Given the description of an element on the screen output the (x, y) to click on. 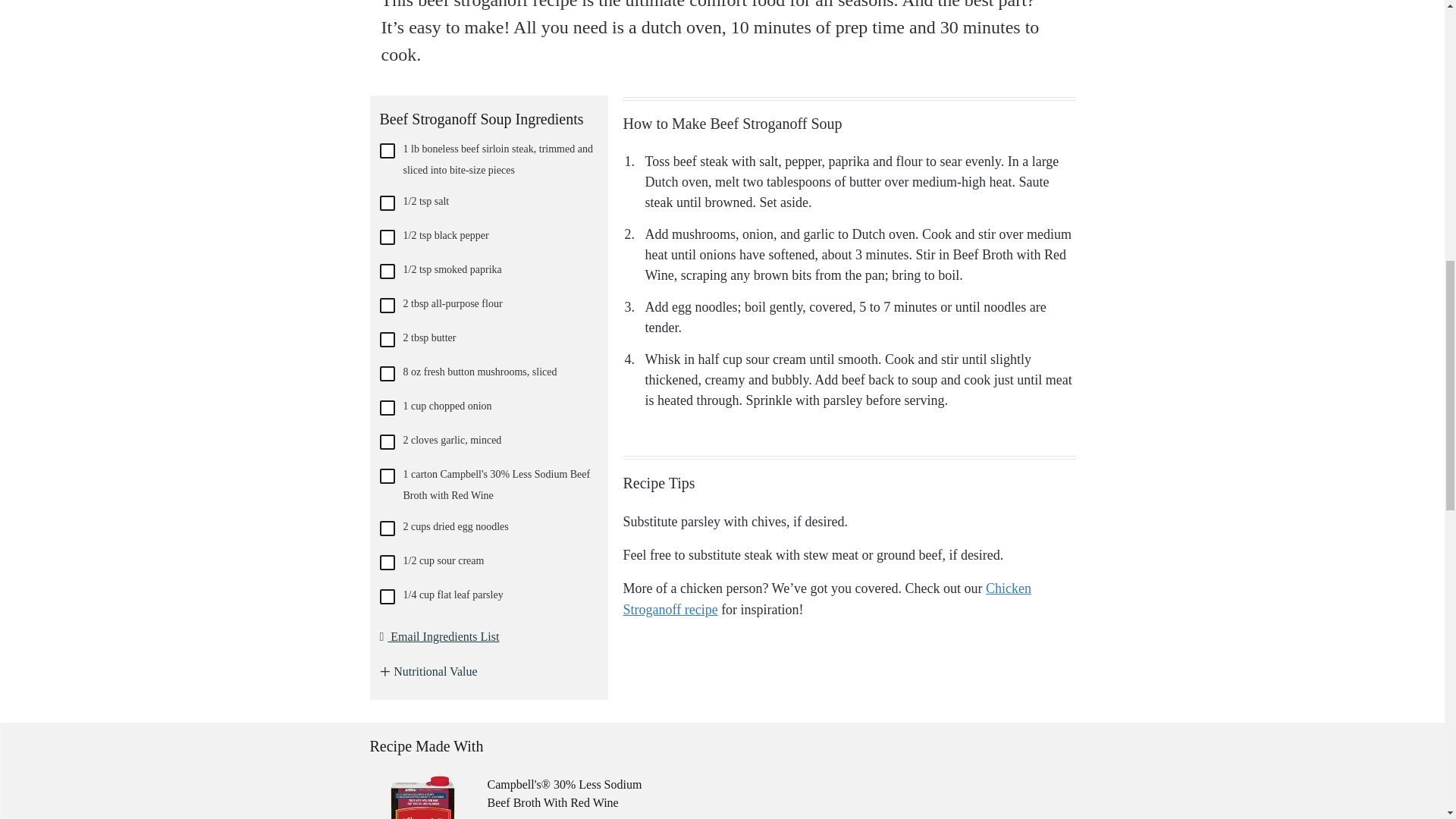
Chicken Stroganoff recipe (827, 599)
on (386, 407)
on (386, 237)
on (386, 476)
on (386, 202)
on (386, 596)
on (386, 339)
on (386, 441)
on (386, 528)
on (386, 271)
